Given the description of an element on the screen output the (x, y) to click on. 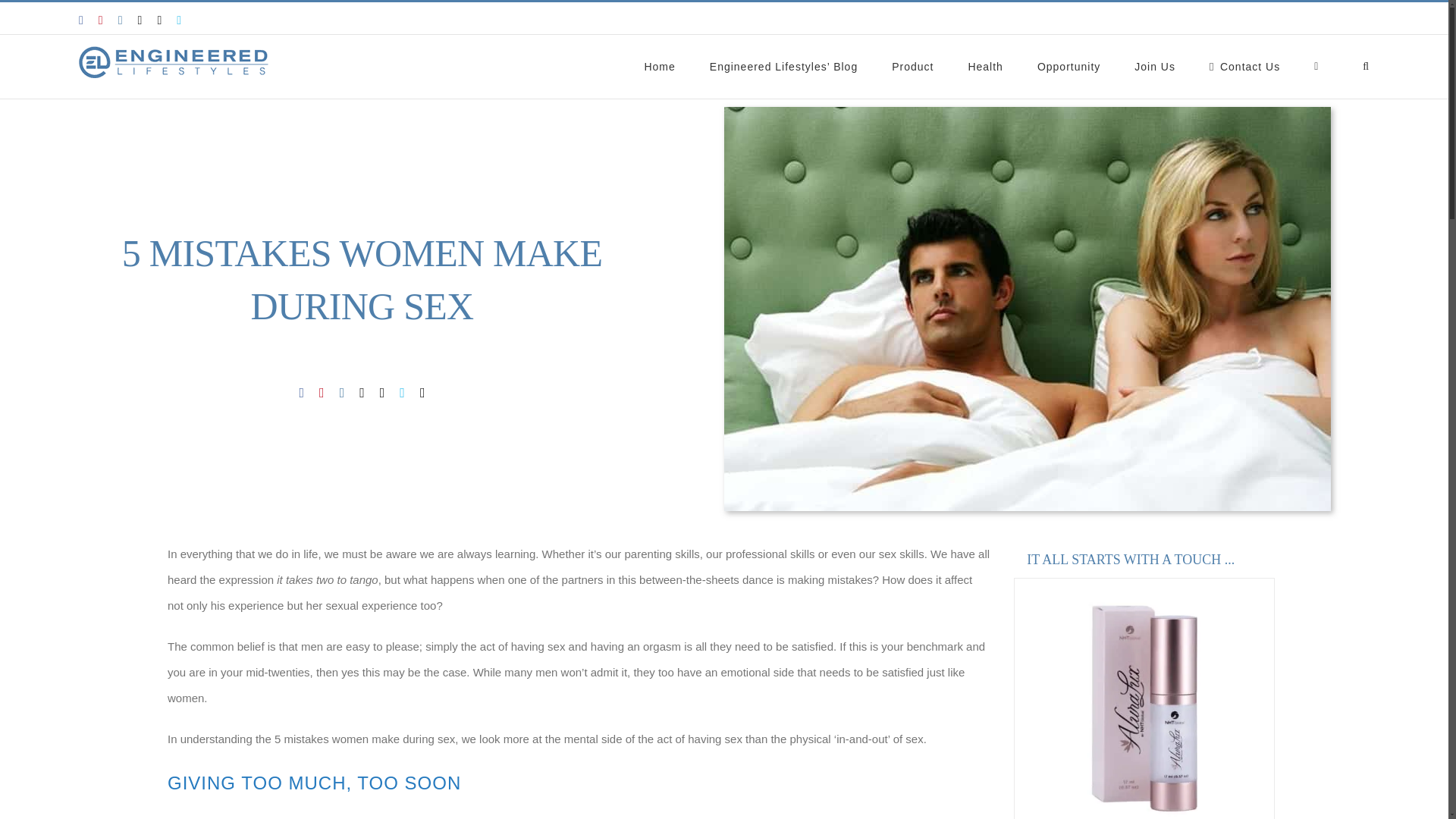
Engineered Lifestyles Blog (783, 66)
Contact Us (1244, 66)
Develop Your Entrepreneurial Plan for Success Today (1068, 66)
Opportunity (1068, 66)
